Given the description of an element on the screen output the (x, y) to click on. 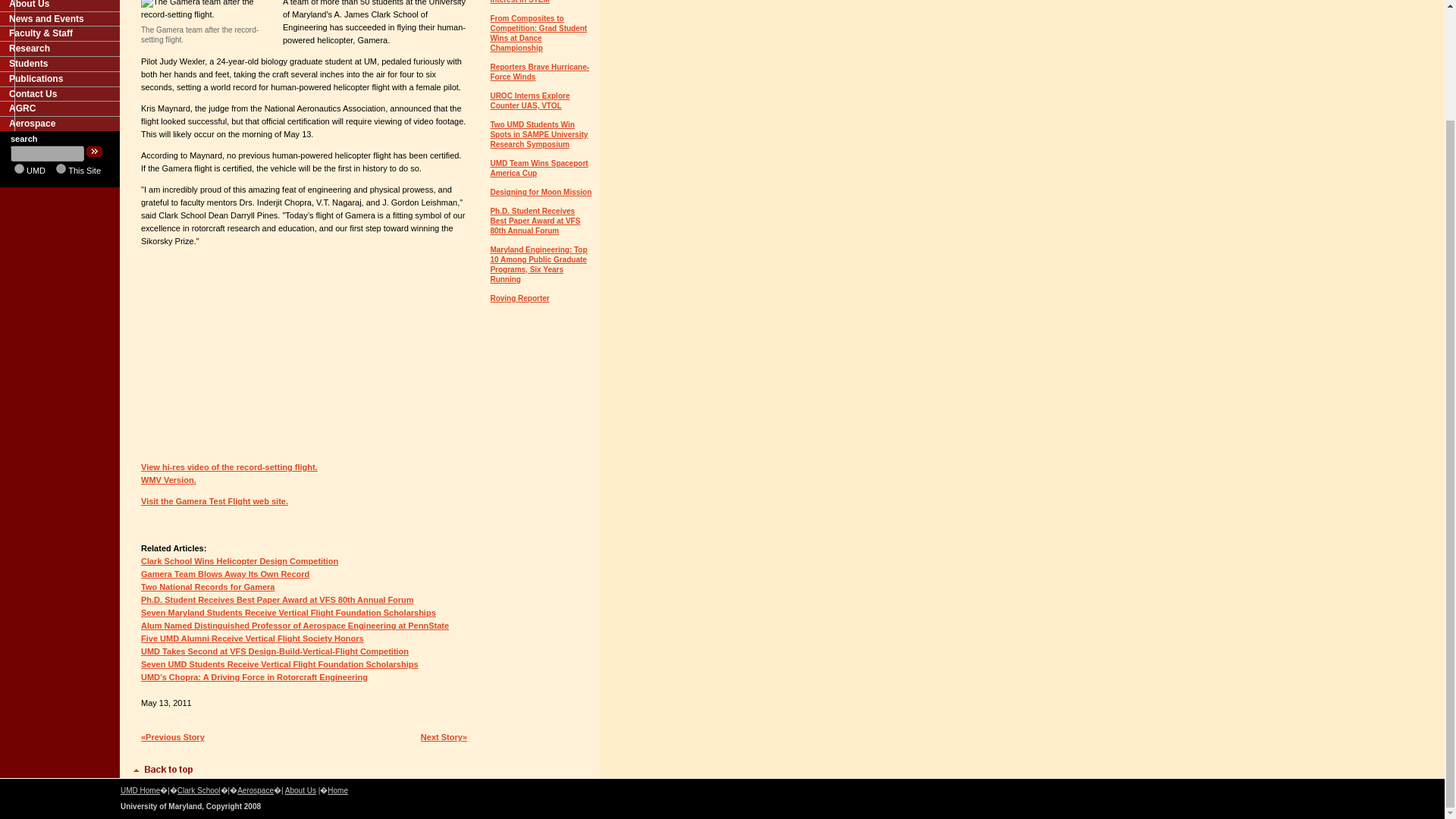
Clark School Wins Helicopter Design Competition (239, 560)
Gamera Team Blows Away Its Own Record (224, 573)
About Us (59, 5)
WMV Version. (168, 479)
Students (59, 63)
Research (59, 48)
AGRC (59, 108)
